Given the description of an element on the screen output the (x, y) to click on. 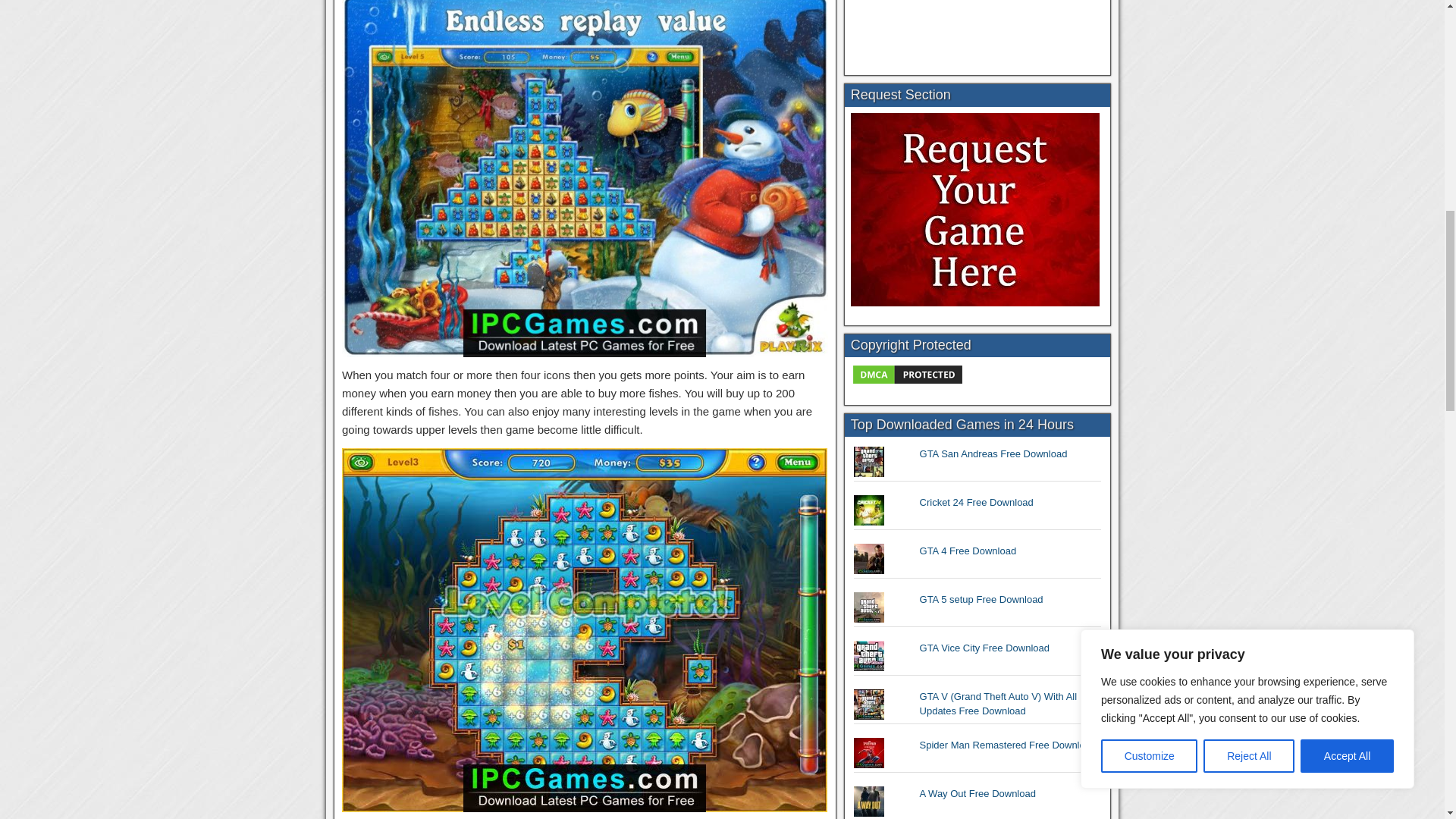
DMCA.com Protection Status (906, 382)
GTA San Andreas Free Download (993, 453)
Cricket 24 Free Download (976, 501)
